Given the description of an element on the screen output the (x, y) to click on. 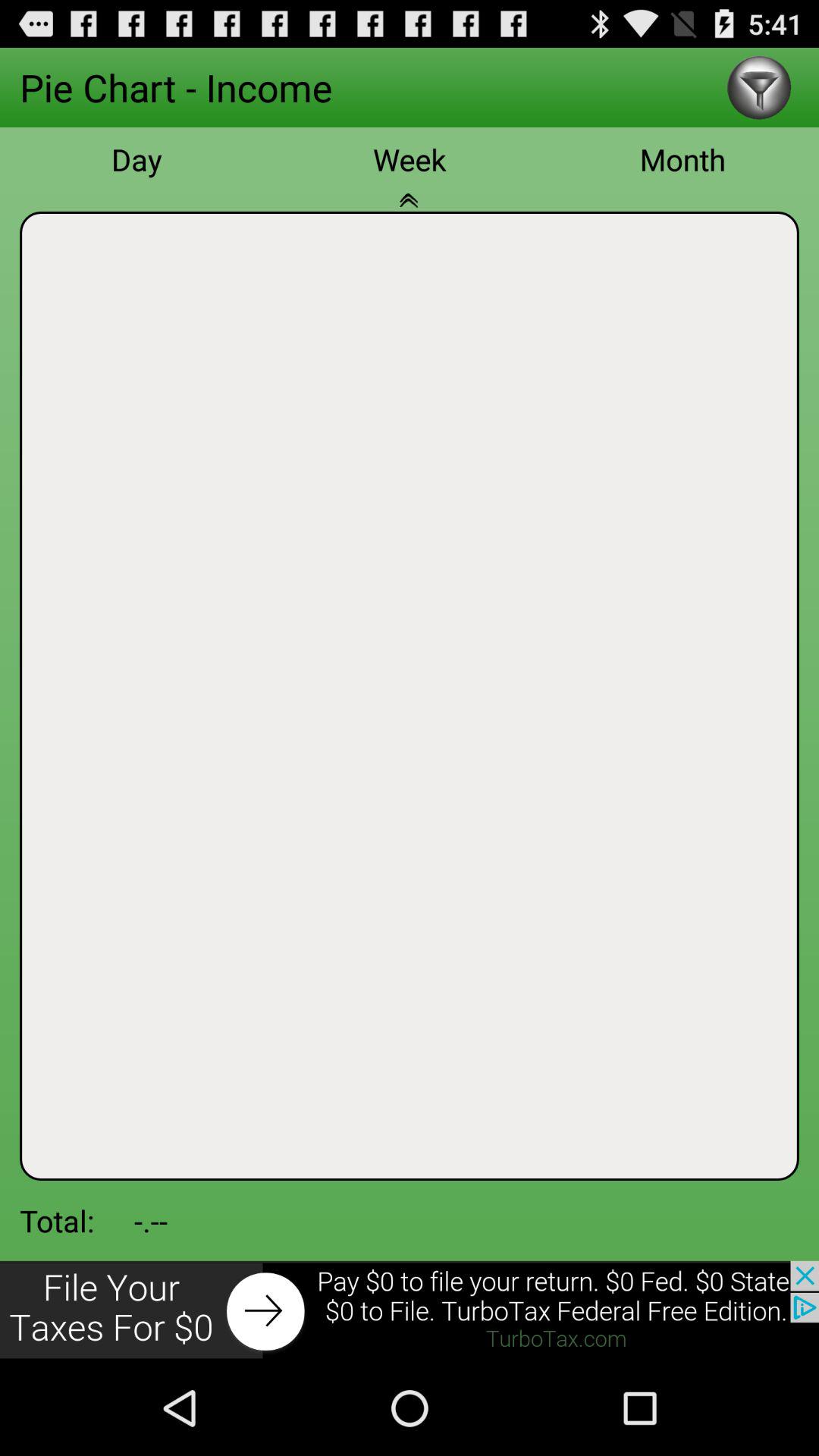
open calendar (409, 209)
